Given the description of an element on the screen output the (x, y) to click on. 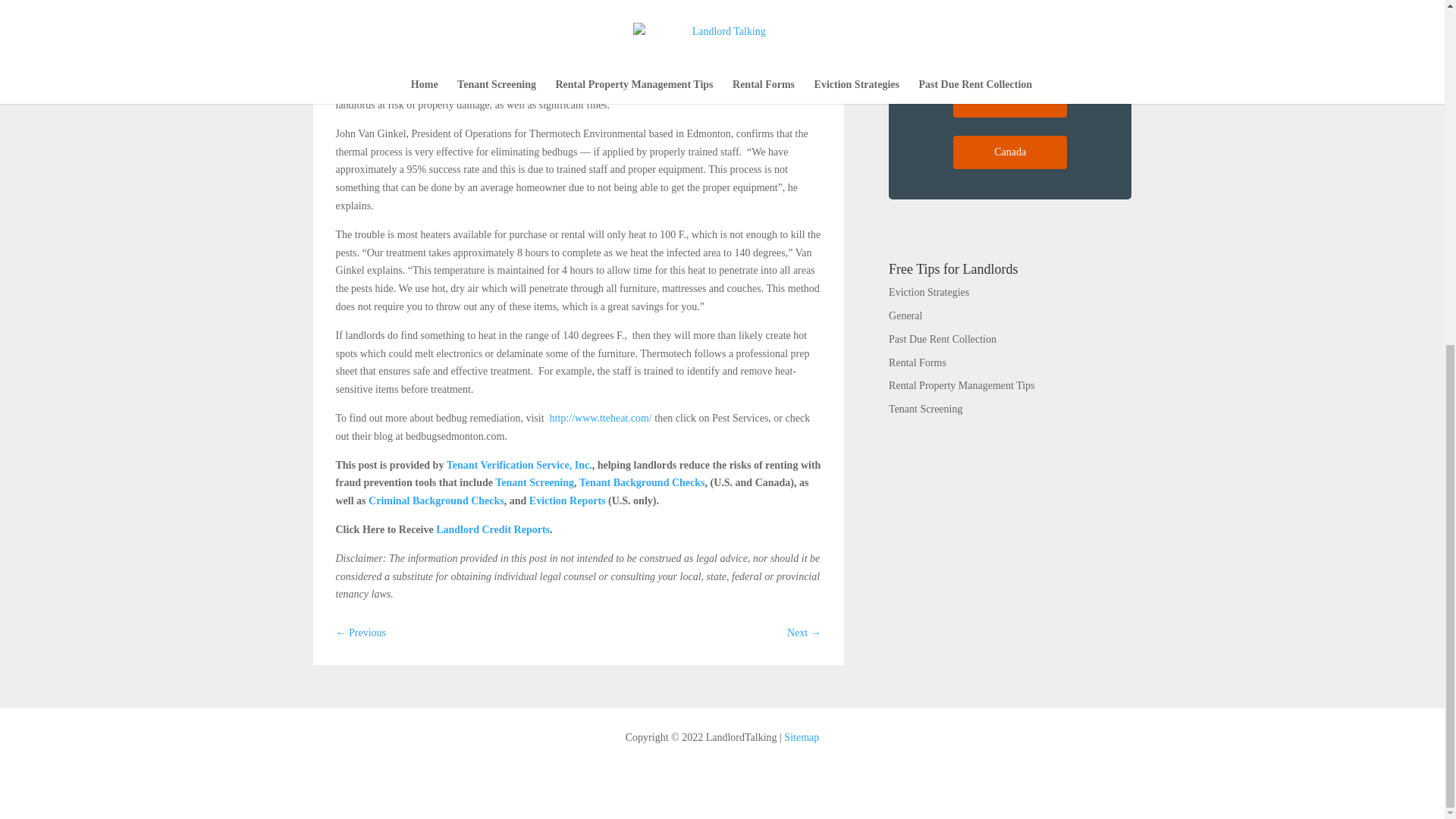
Eviction Reports (567, 500)
USA (1010, 100)
Sitemap (801, 737)
Tenant Screening (925, 408)
Rental Property Management Tips (961, 385)
Tenant Background Checks (641, 482)
Landlord Credit Reports (492, 529)
Rental Forms (917, 362)
Screening for USA  (1010, 100)
Screening for Canada (1010, 151)
